Given the description of an element on the screen output the (x, y) to click on. 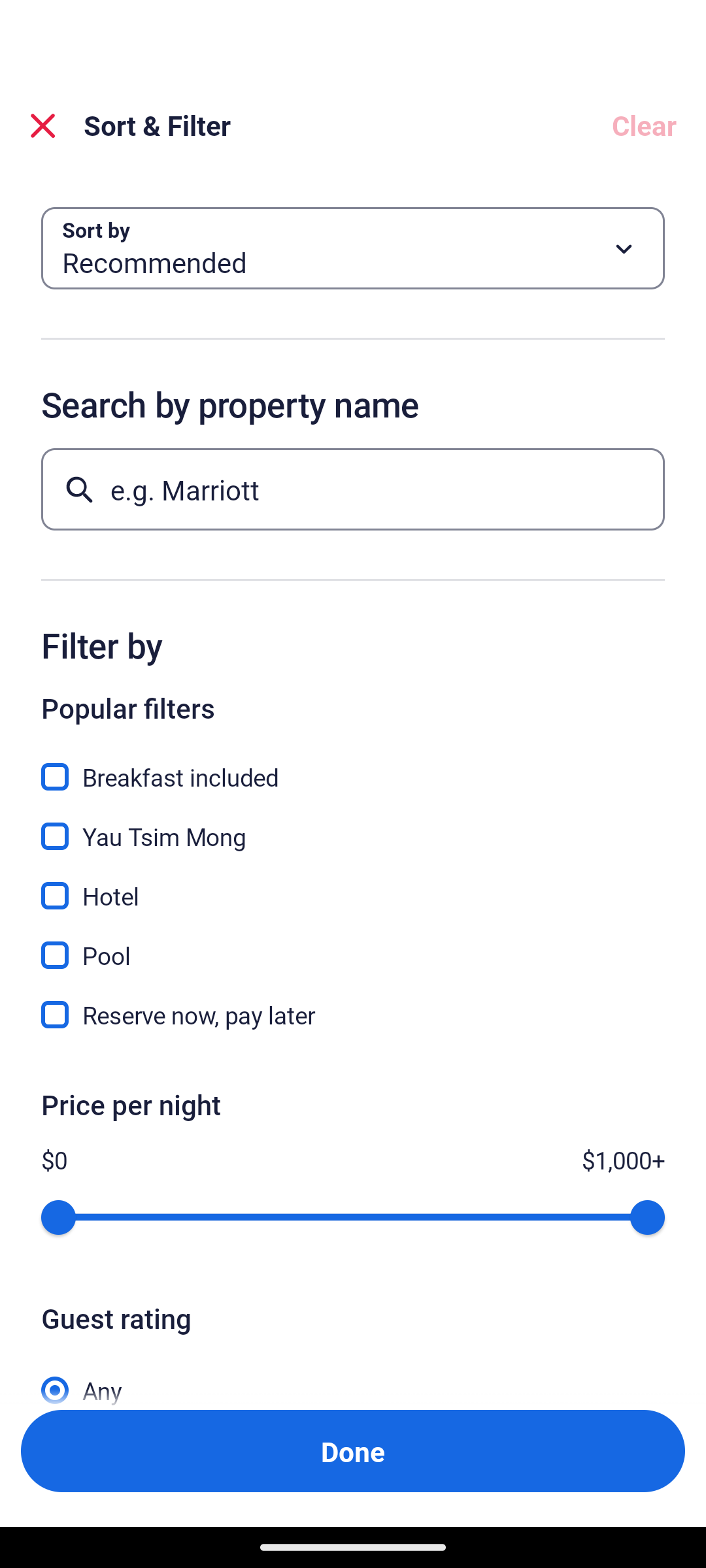
Clear (643, 125)
Close Sort and Filter (43, 125)
Sort by Button Recommended (352, 248)
e.g. Marriott Button (352, 488)
Breakfast included, Breakfast included (352, 765)
Yau Tsim Mong, Yau Tsim Mong (352, 824)
Hotel, Hotel (352, 884)
Pool, Pool (352, 943)
Reserve now, pay later, Reserve now, pay later (352, 1014)
Apply and close Sort and Filter Done (352, 1450)
